Given the description of an element on the screen output the (x, y) to click on. 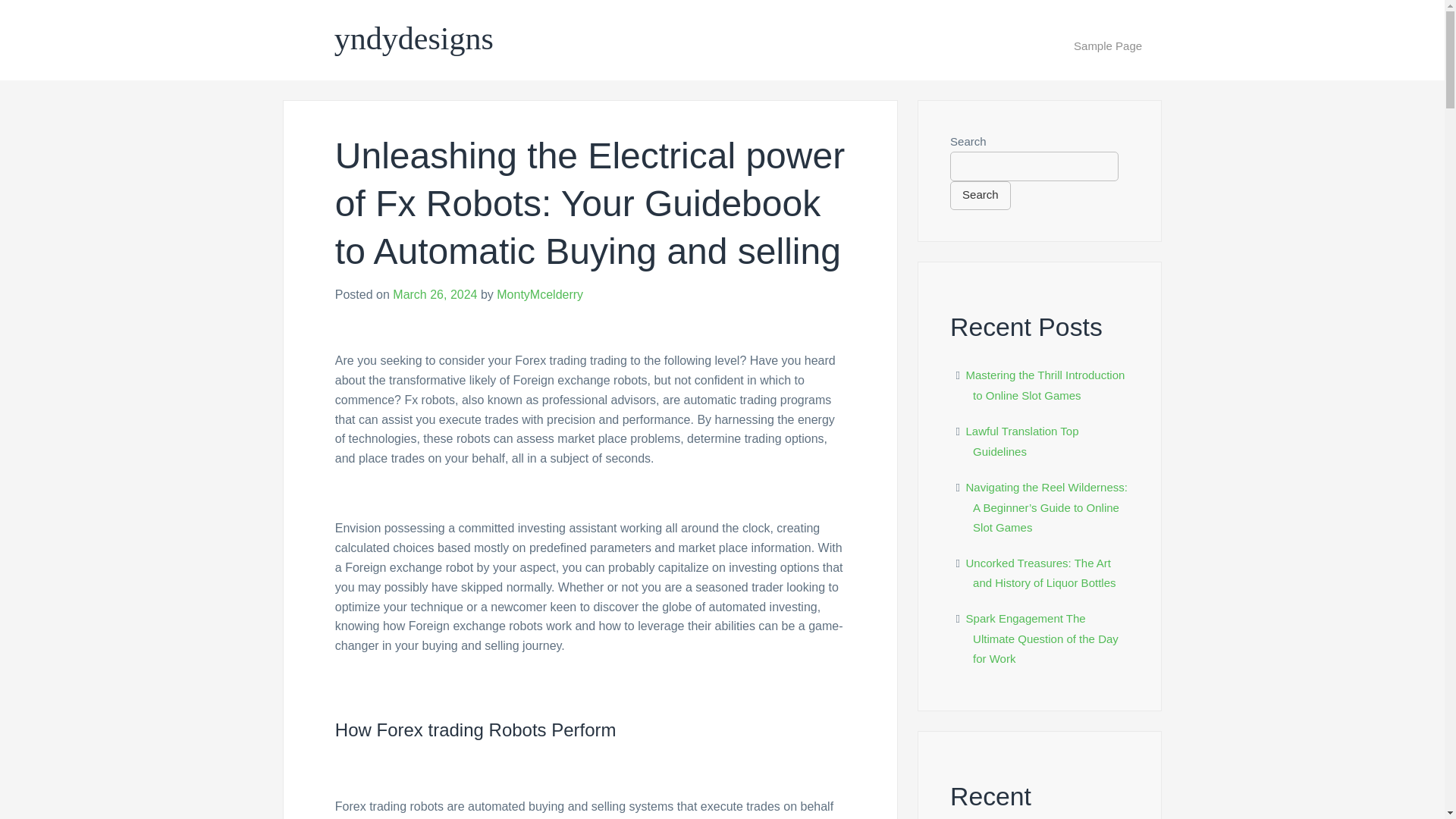
Mastering the Thrill Introduction to Online Slot Games (1045, 385)
March 26, 2024 (435, 294)
Lawful Translation Top Guidelines (1022, 441)
Spark Engagement The Ultimate Question of the Day for Work (1042, 638)
Sample Page (1107, 46)
yndydesigns (413, 38)
Uncorked Treasures: The Art and History of Liquor Bottles (1041, 572)
Search (980, 194)
MontyMcelderry (539, 294)
